Given the description of an element on the screen output the (x, y) to click on. 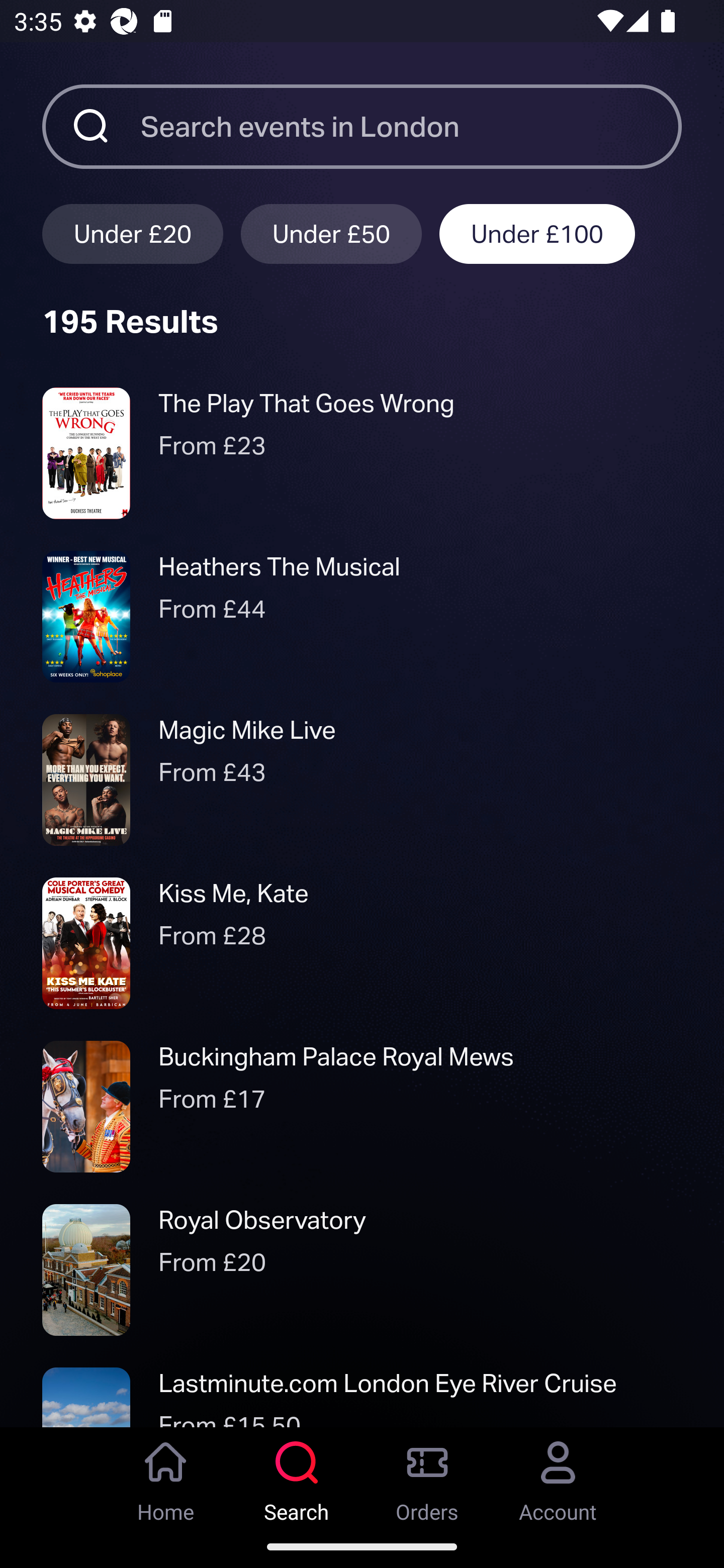
Search events in London (411, 126)
Under £20 (131, 233)
Under £50 (331, 233)
Under £100 (536, 233)
Magic Mike Live £43  Magic Mike Live From £43 (361, 779)
Kiss Me, Kate £28  Kiss Me, Kate From £28 (361, 943)
Home (165, 1475)
Orders (427, 1475)
Account (558, 1475)
